Given the description of an element on the screen output the (x, y) to click on. 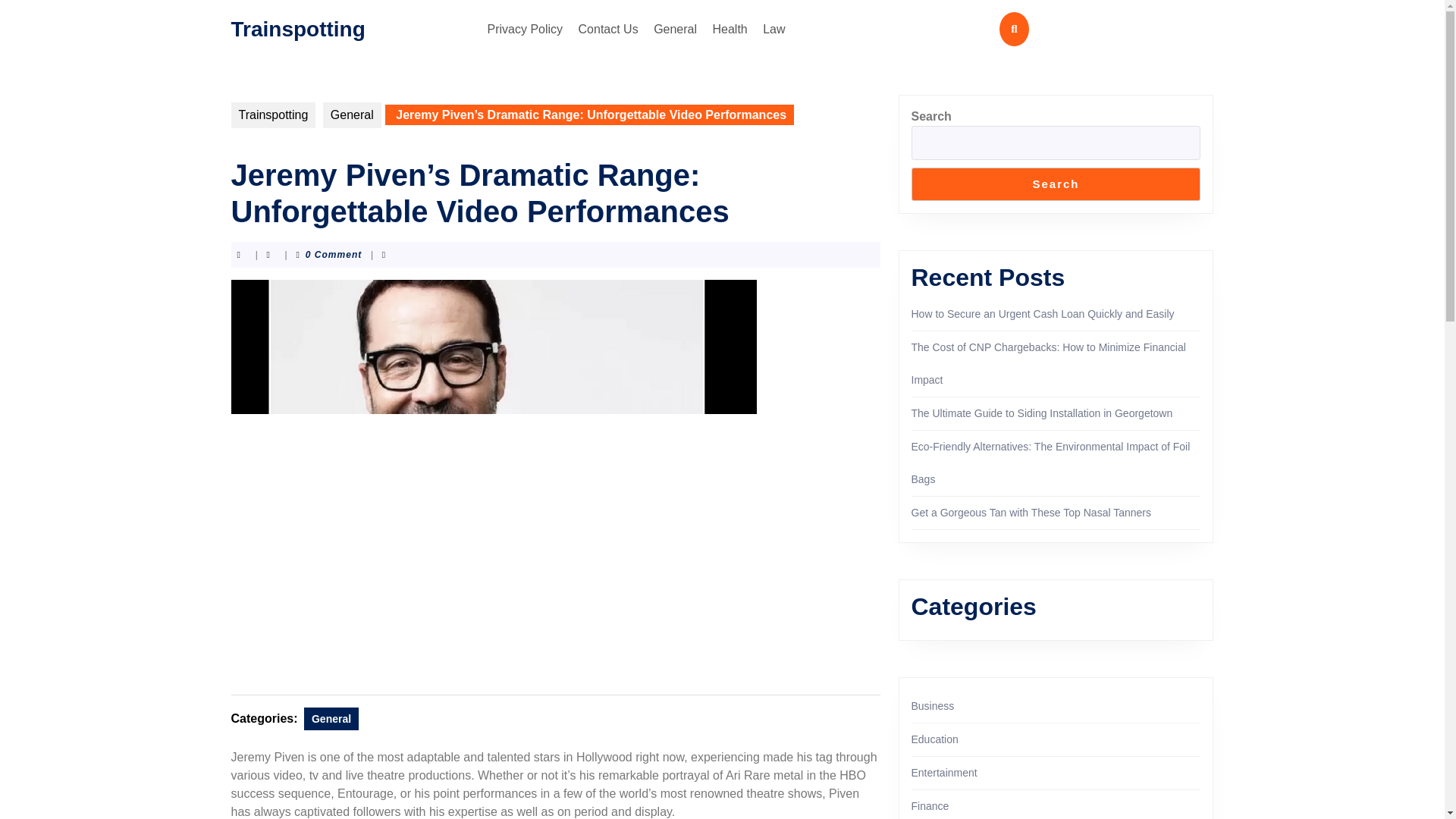
Trainspotting (272, 114)
Privacy Policy (524, 28)
Health (730, 28)
Search (1056, 183)
General (331, 718)
Law (773, 28)
Trainspotting (297, 28)
The Ultimate Guide to Siding Installation in Georgetown (1042, 413)
